Given the description of an element on the screen output the (x, y) to click on. 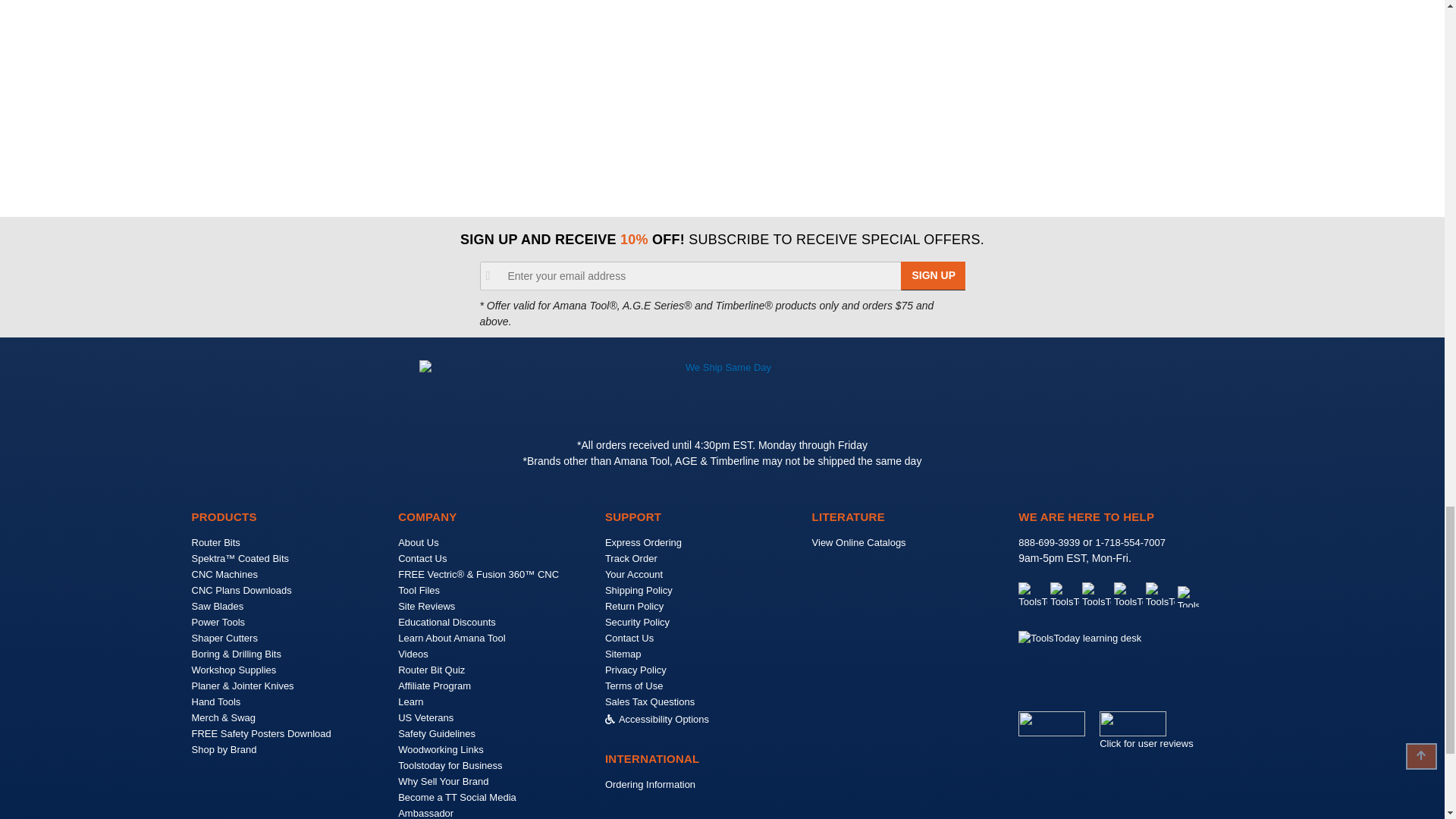
SIGN UP (934, 275)
